Given the description of an element on the screen output the (x, y) to click on. 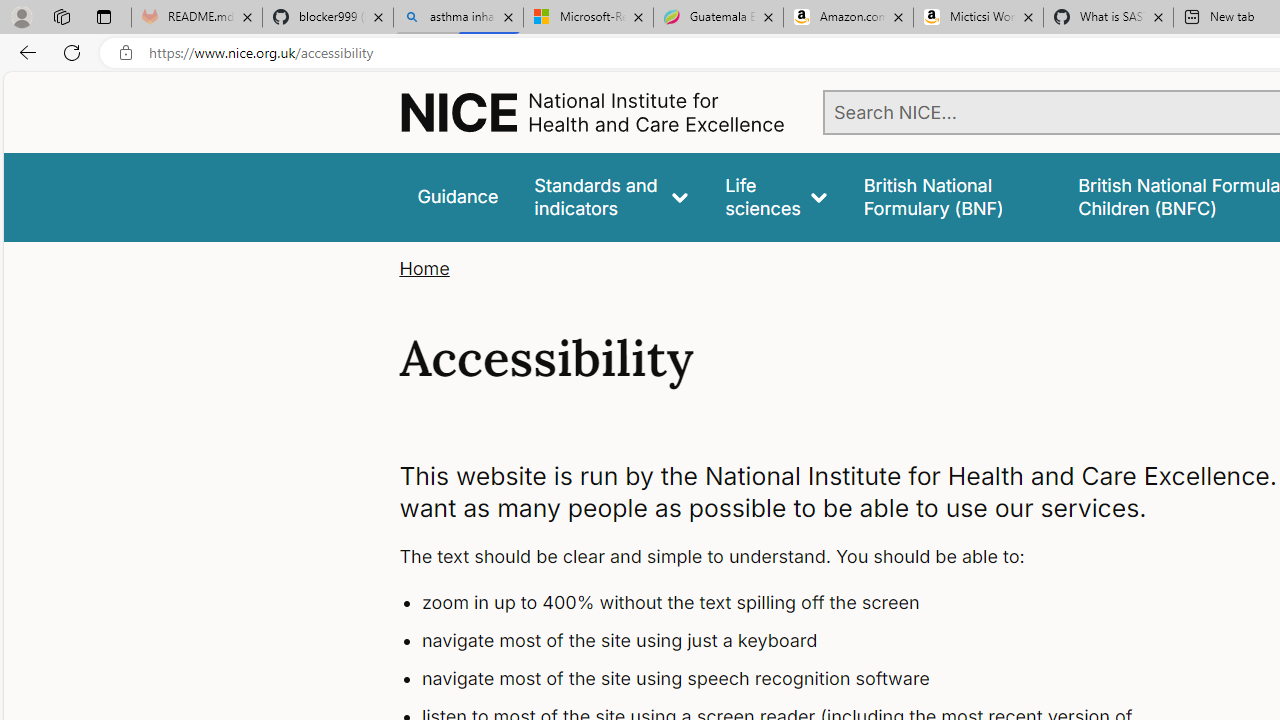
Life sciences (776, 196)
navigate most of the site using just a keyboard (796, 641)
Guidance (458, 196)
